Given the description of an element on the screen output the (x, y) to click on. 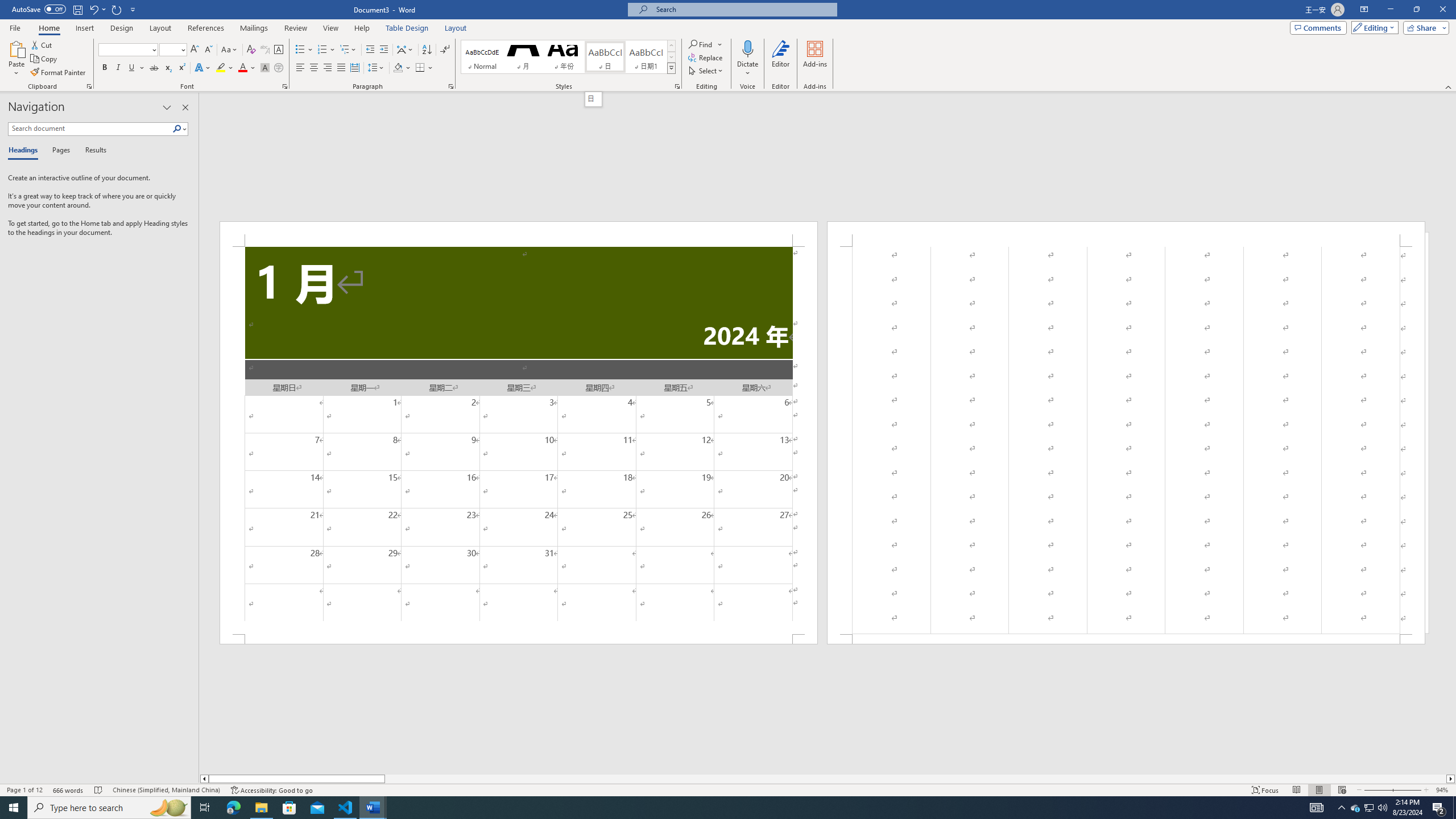
Share (1423, 27)
Search document (89, 128)
Read Mode (1296, 790)
Review (295, 28)
Text Highlight Color (224, 67)
Paste (16, 58)
Show/Hide Editing Marks (444, 49)
Page Number Page 1 of 12 (24, 790)
Repeat Doc Close (117, 9)
Word Count 666 words (68, 790)
Headings (25, 150)
Column left (203, 778)
Increase Indent (383, 49)
Font Size (169, 49)
